Given the description of an element on the screen output the (x, y) to click on. 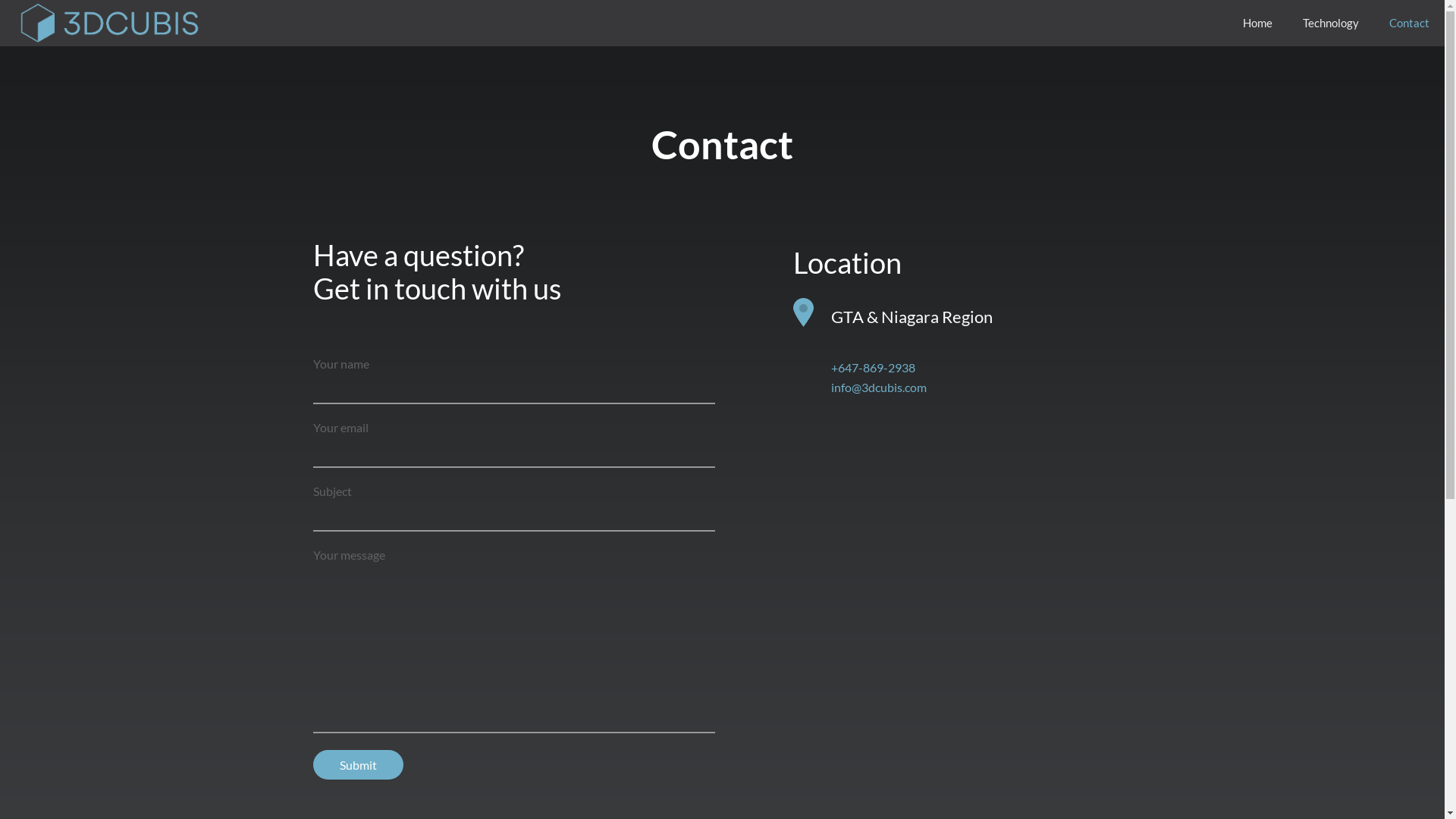
Submit Element type: text (357, 764)
Home Element type: text (1257, 22)
info@3dcubis.com Element type: text (878, 386)
Technology Element type: text (1330, 22)
3dCubis Element type: hover (107, 22)
Contact Element type: text (1409, 22)
+647-869-2938 Element type: text (873, 367)
